Given the description of an element on the screen output the (x, y) to click on. 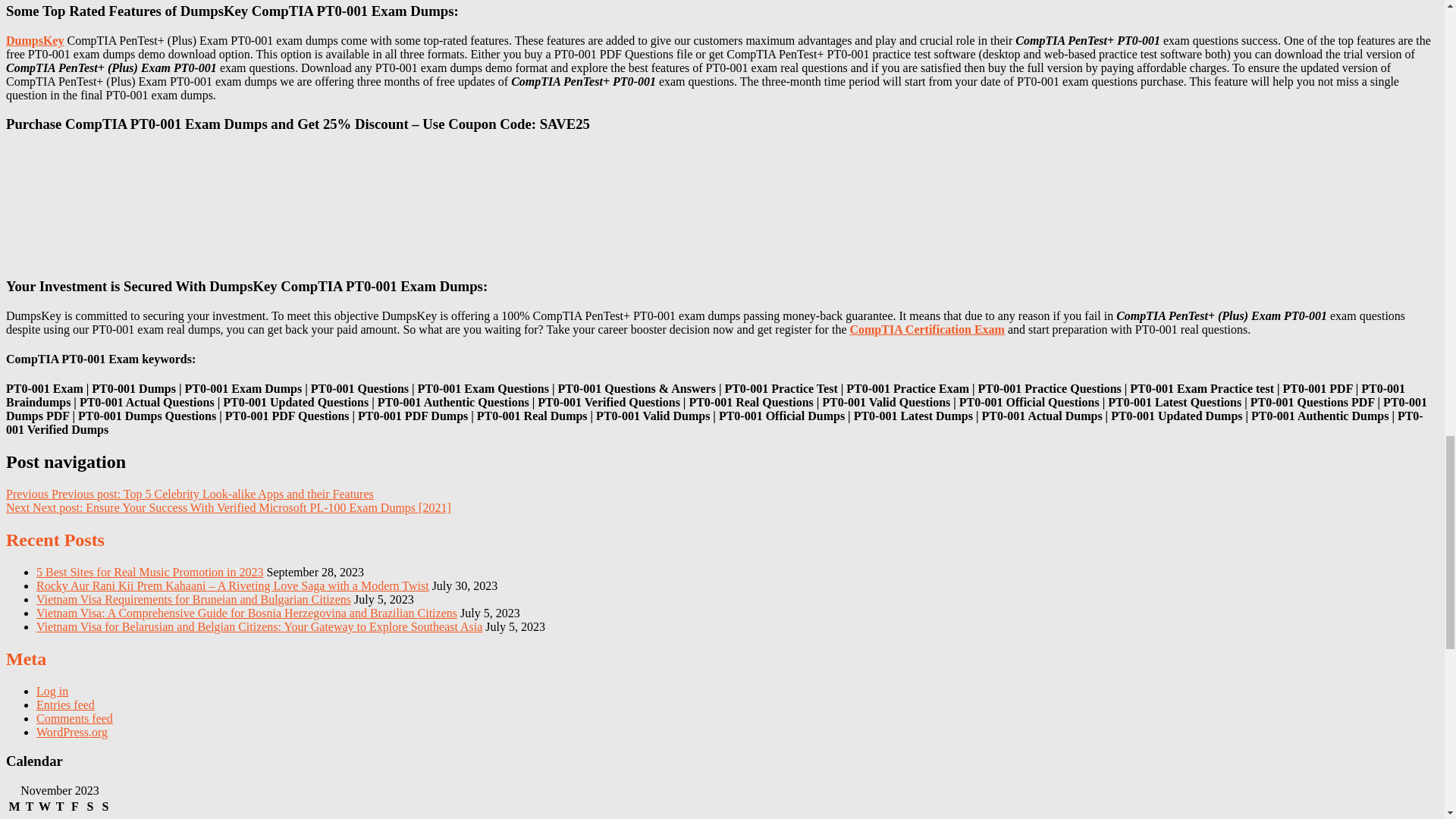
Friday (74, 806)
Sunday (105, 806)
Saturday (89, 806)
Tuesday (29, 806)
Thursday (59, 806)
Monday (14, 806)
Wednesday (43, 806)
